Given the description of an element on the screen output the (x, y) to click on. 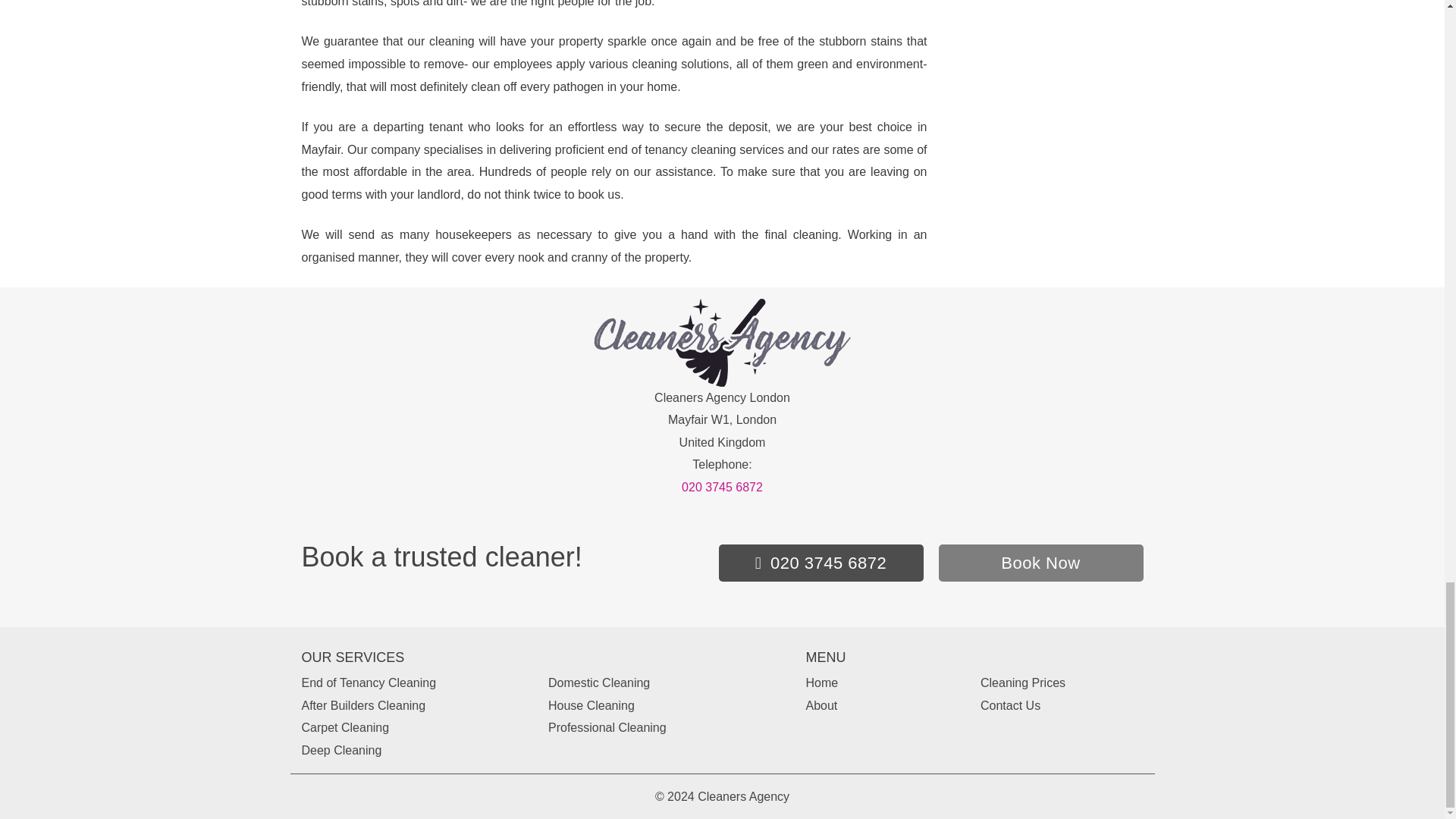
020 3745 6872 (821, 562)
Book Now (1040, 562)
020 3745 6872 (721, 486)
End of Tenancy Cleaning (368, 682)
